Given the description of an element on the screen output the (x, y) to click on. 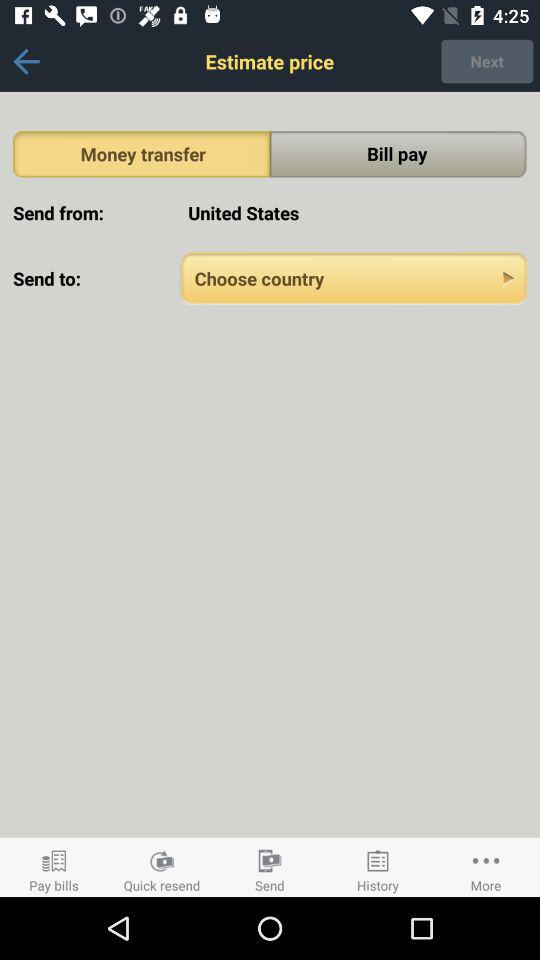
select the item above the send from: (141, 154)
